Given the description of an element on the screen output the (x, y) to click on. 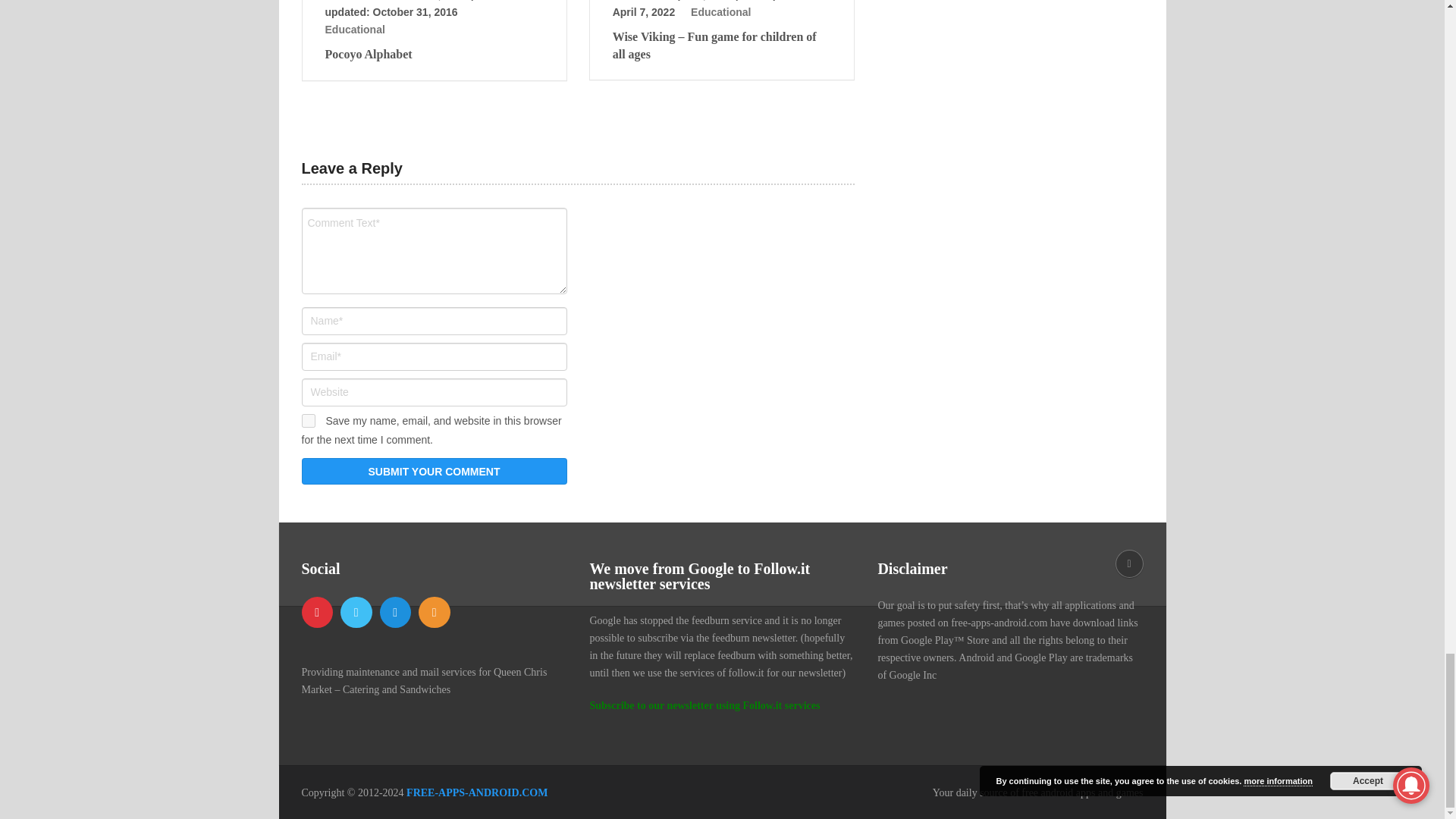
yes (308, 420)
Submit Your Comment (434, 470)
View all posts in Educational (354, 29)
View all posts in Educational (720, 11)
Pocoyo Alphabet (433, 54)
